Given the description of an element on the screen output the (x, y) to click on. 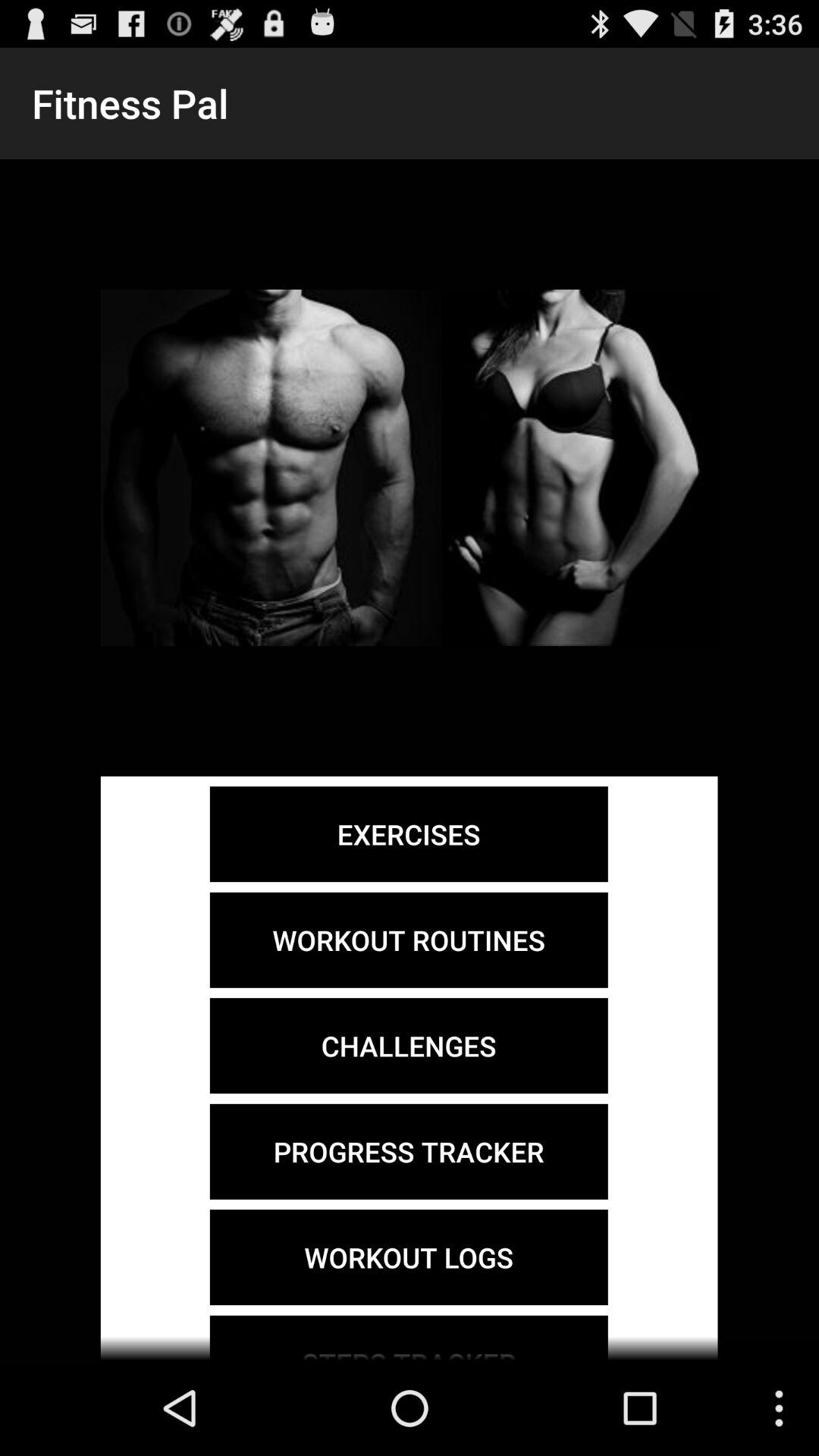
choose the icon above the workout routines item (408, 834)
